Given the description of an element on the screen output the (x, y) to click on. 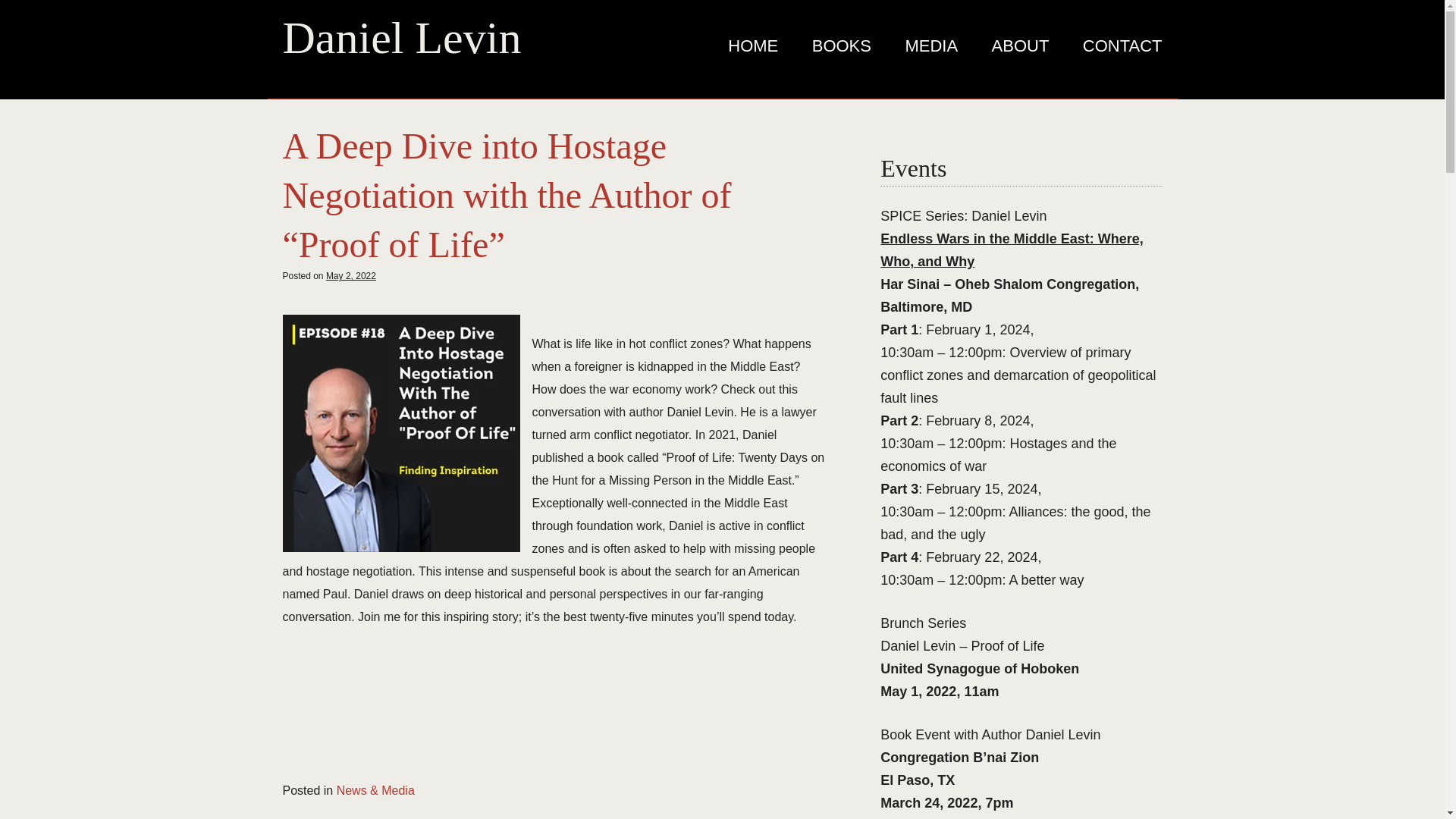
Daniel Levin (401, 38)
May 2, 2022 (350, 276)
HOME (753, 46)
CONTACT (1114, 46)
BOOKS (841, 46)
Endless Wars in the Middle East: Where, Who, and Why (1011, 249)
ABOUT (1020, 46)
MEDIA (930, 46)
